Given the description of an element on the screen output the (x, y) to click on. 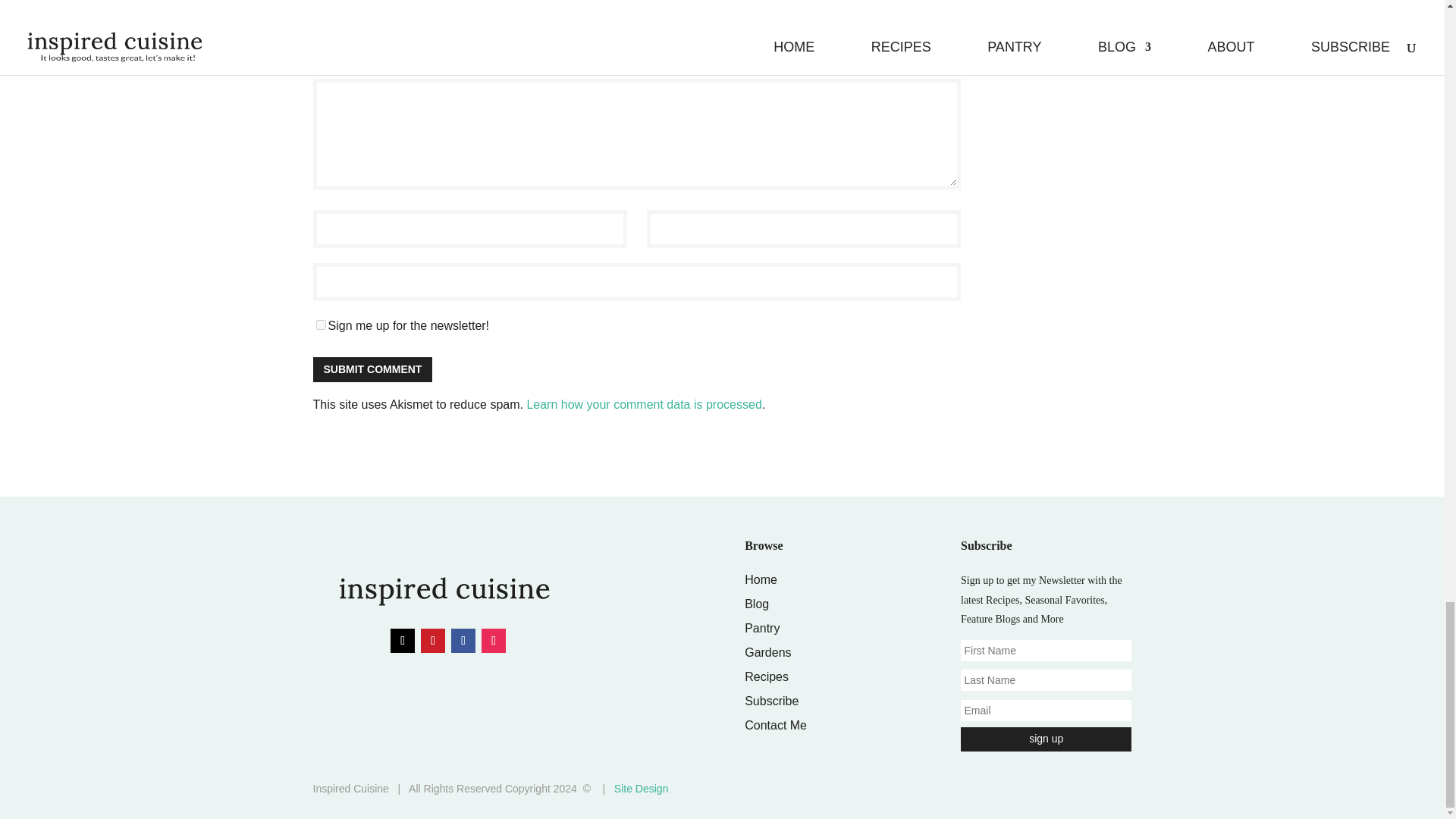
1 (319, 325)
Follow on X (402, 640)
Submit Comment (372, 369)
Follow on Facebook (463, 640)
logo-inspired-smaller-no-tag (441, 590)
Follow on Instagram (493, 640)
Follow on Pinterest (432, 640)
